Given the description of an element on the screen output the (x, y) to click on. 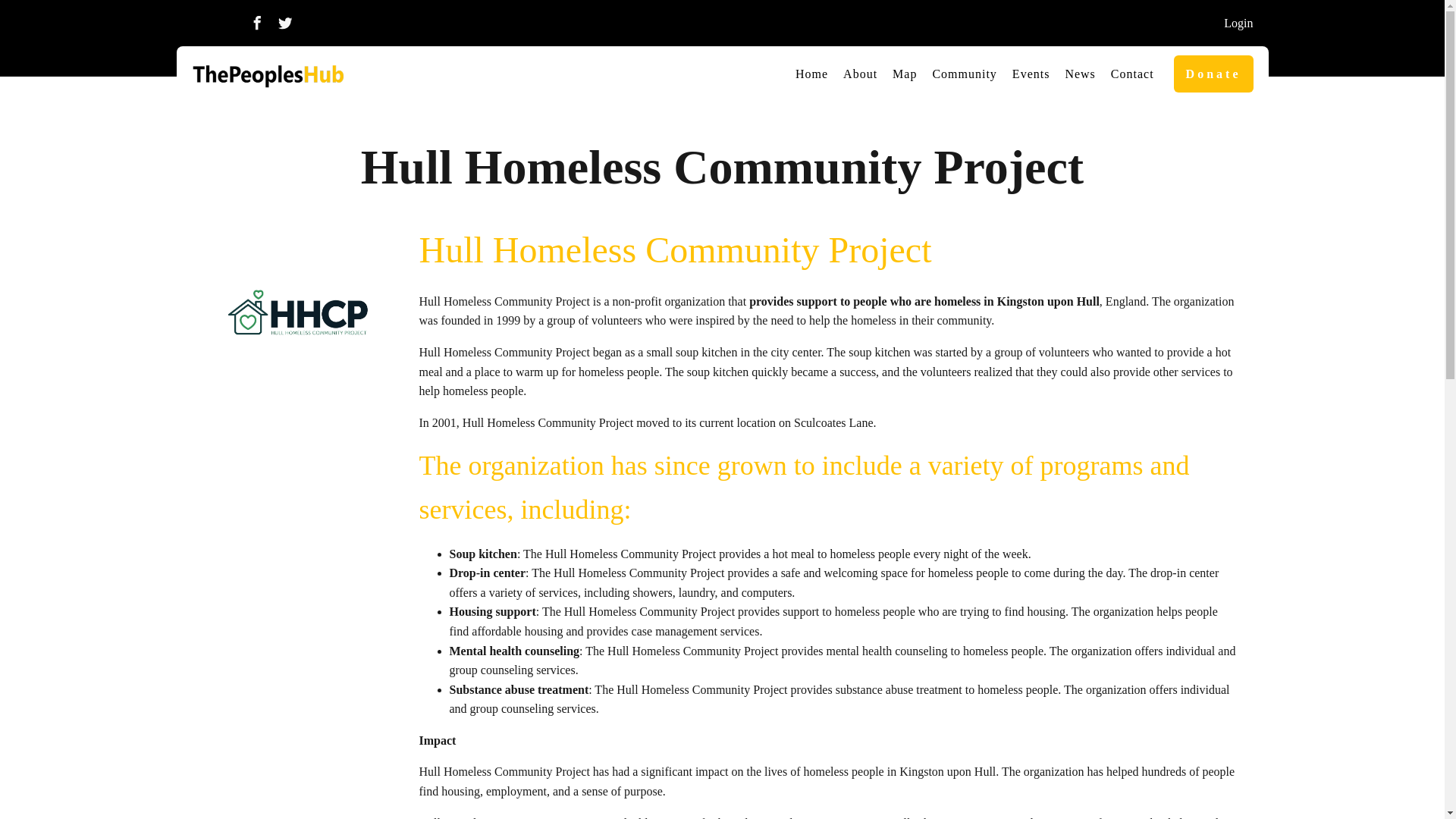
Login (1238, 23)
Contact (1132, 73)
Events (1031, 73)
Home (811, 73)
Community (964, 73)
Map (904, 73)
About (860, 73)
Donate (1213, 73)
News (1079, 73)
